Given the description of an element on the screen output the (x, y) to click on. 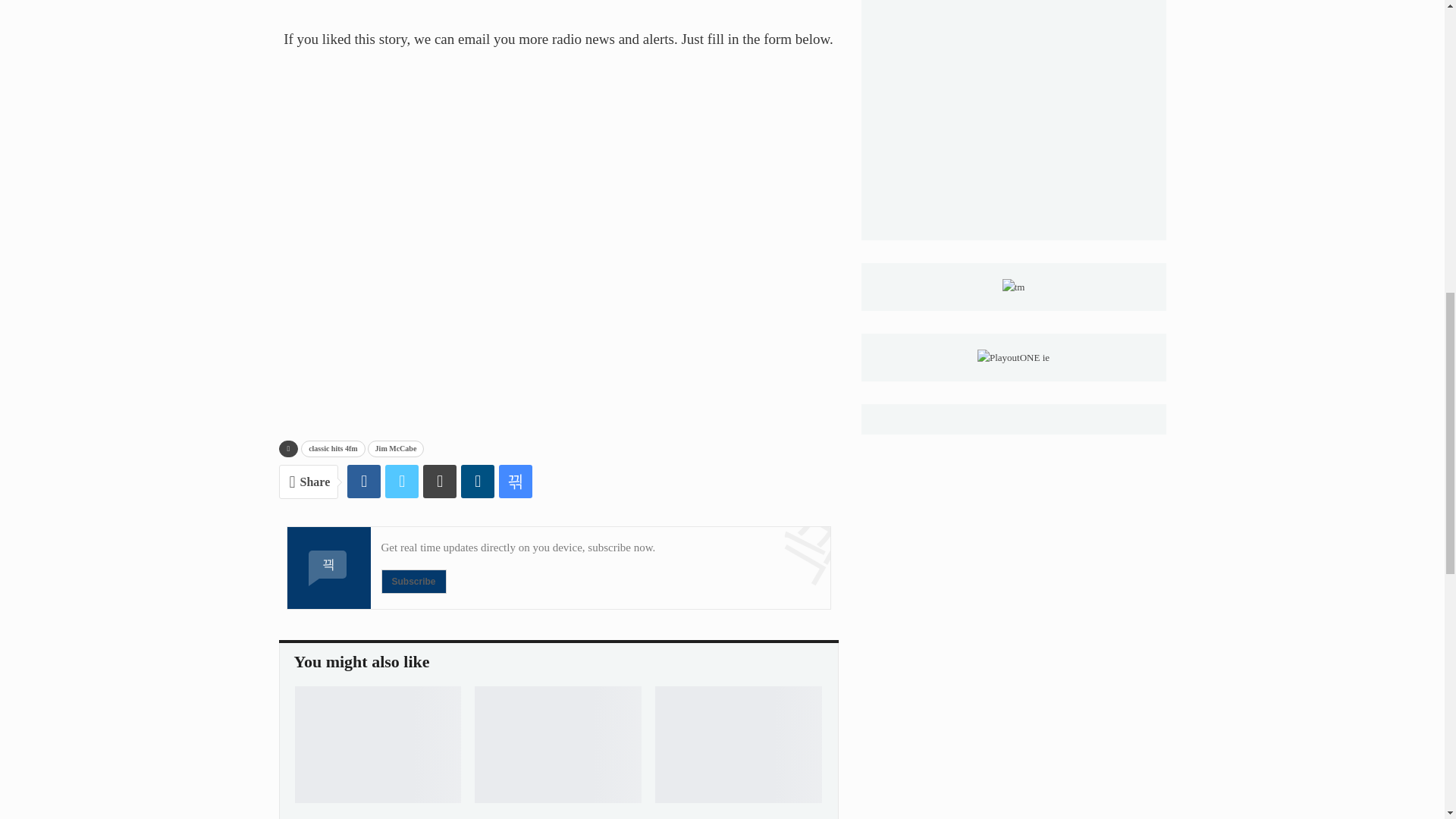
Jim McCabe (396, 448)
Live 95 partners with Down Syndrome Limerick (738, 744)
Subscribe (412, 581)
classic hits 4fm (333, 448)
